Given the description of an element on the screen output the (x, y) to click on. 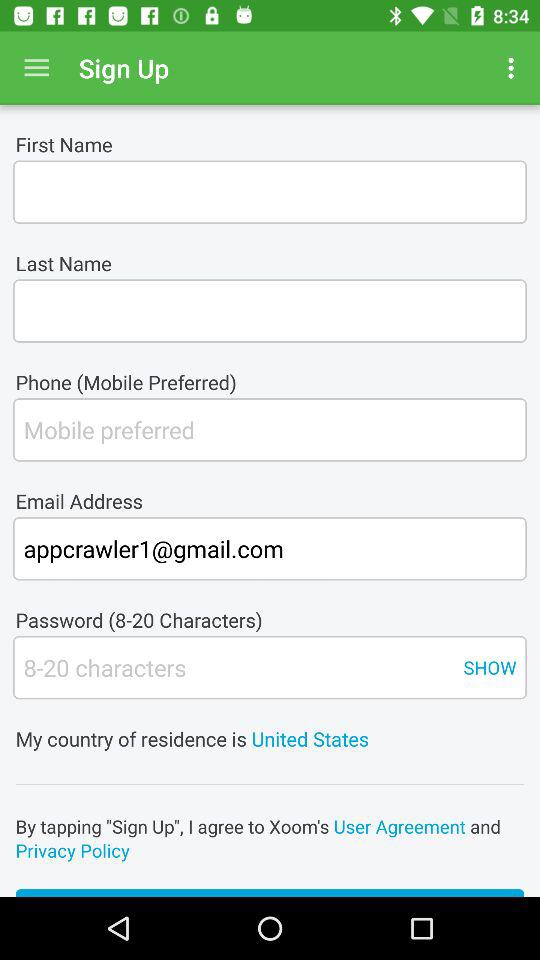
turn on item to the right of sign up (513, 67)
